Given the description of an element on the screen output the (x, y) to click on. 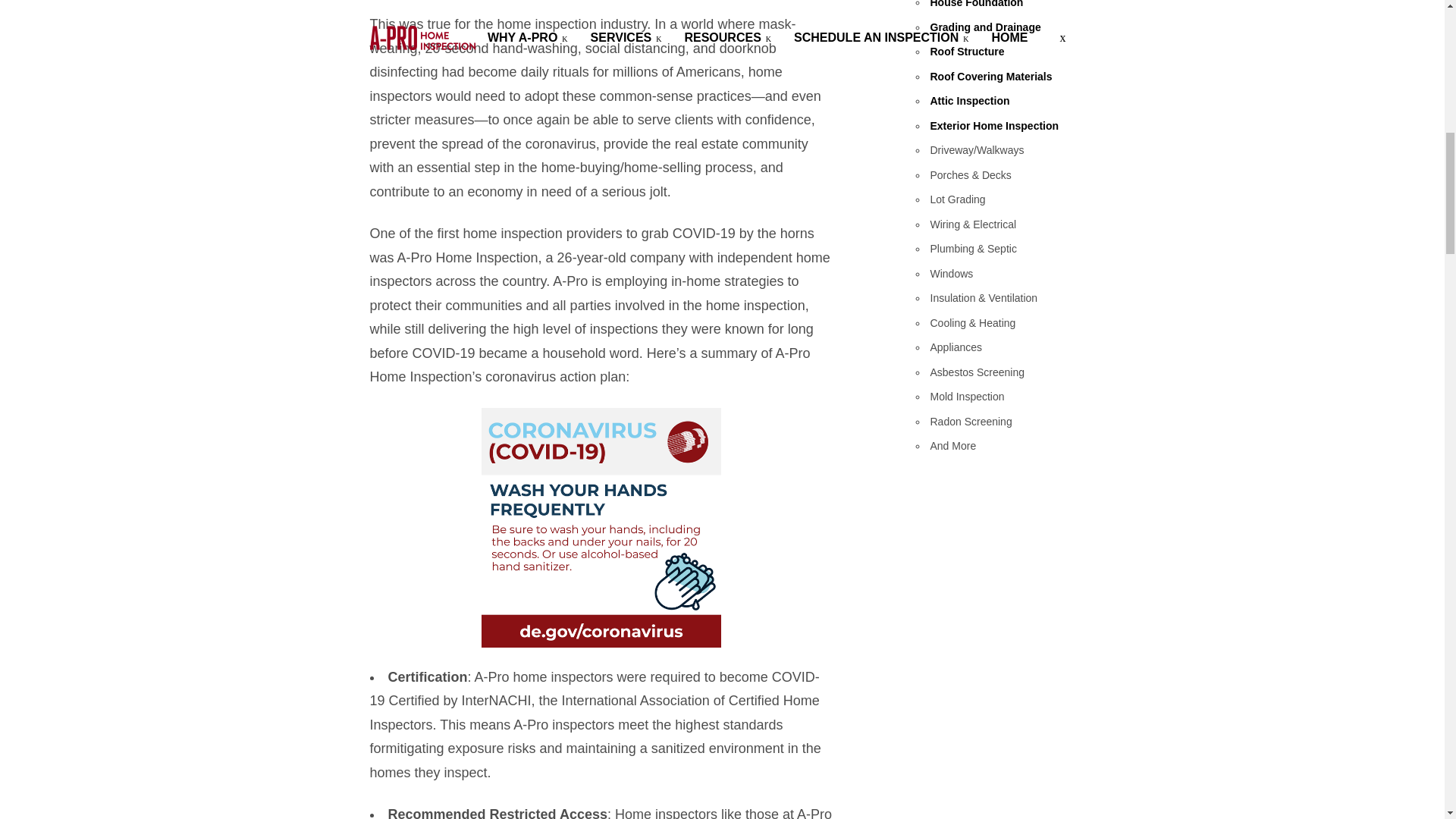
Find out more about Grading and Drainage (985, 27)
Attic Inspection (969, 101)
Find out more about foundation inspections (976, 4)
Find out more about Roof Structure (967, 51)
 Exterior Home Inspection (994, 125)
Roof Covering Materials (990, 76)
